Given the description of an element on the screen output the (x, y) to click on. 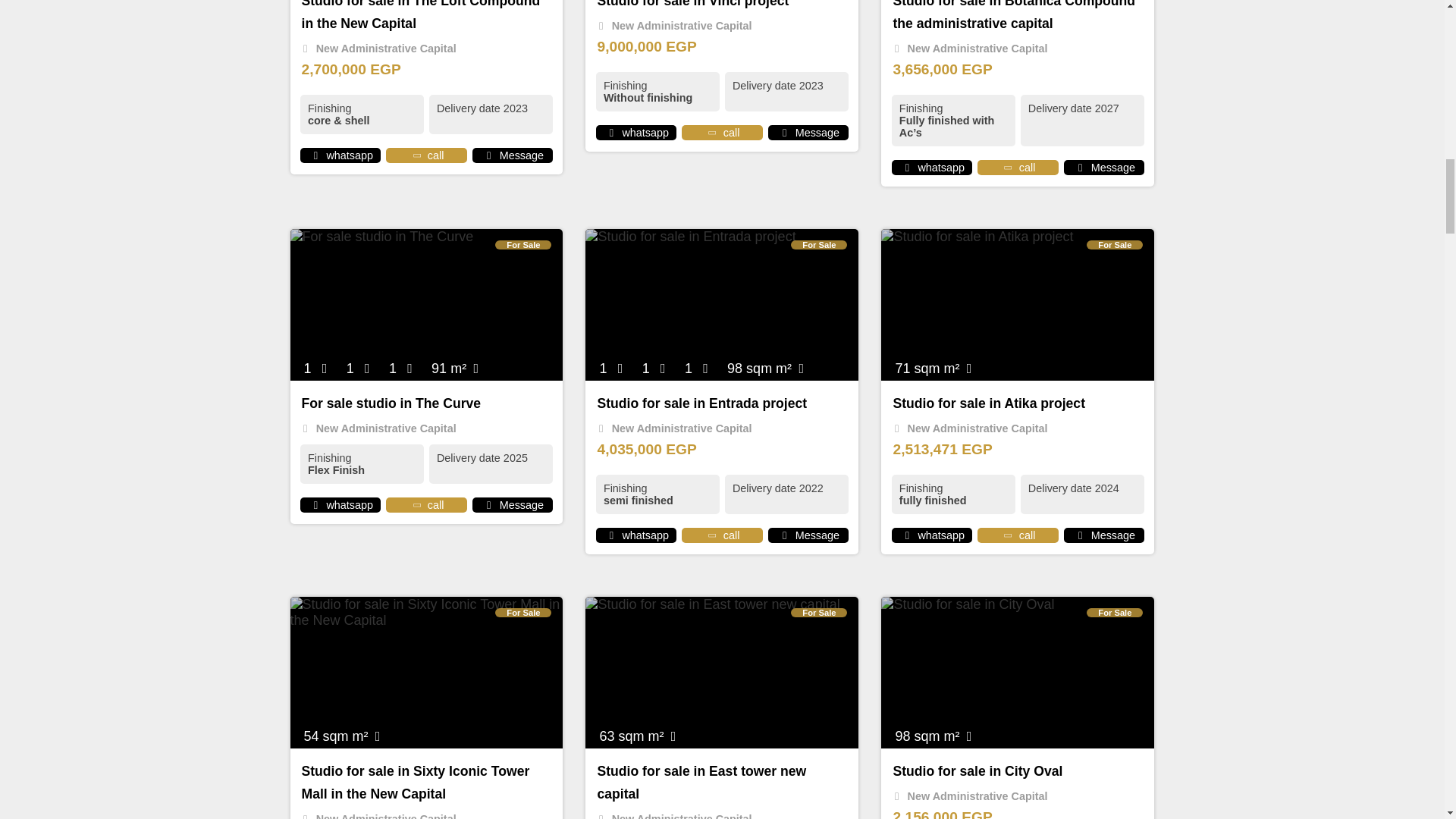
whatsapp (611, 535)
whatsapp (315, 155)
whatsapp (611, 132)
whatsapp (315, 504)
whatsapp (906, 167)
whatsapp (906, 535)
